Given the description of an element on the screen output the (x, y) to click on. 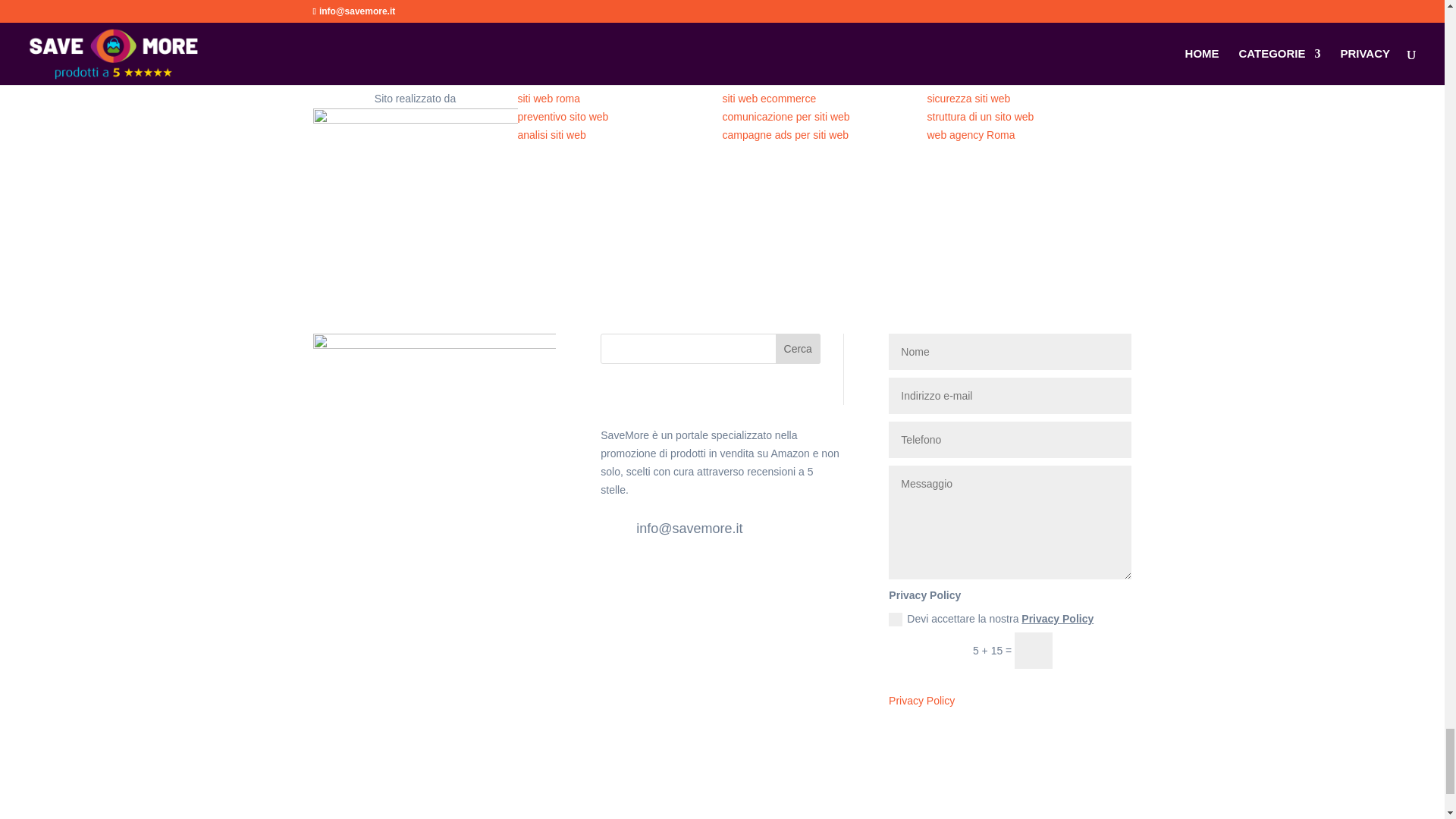
Segui su Facebook (611, 580)
Privacy Policy  (921, 700)
Segui su X (642, 580)
Cerca (798, 348)
SITIWEBOK-Logo-BIANCO-NEGATIVO (414, 159)
